Given the description of an element on the screen output the (x, y) to click on. 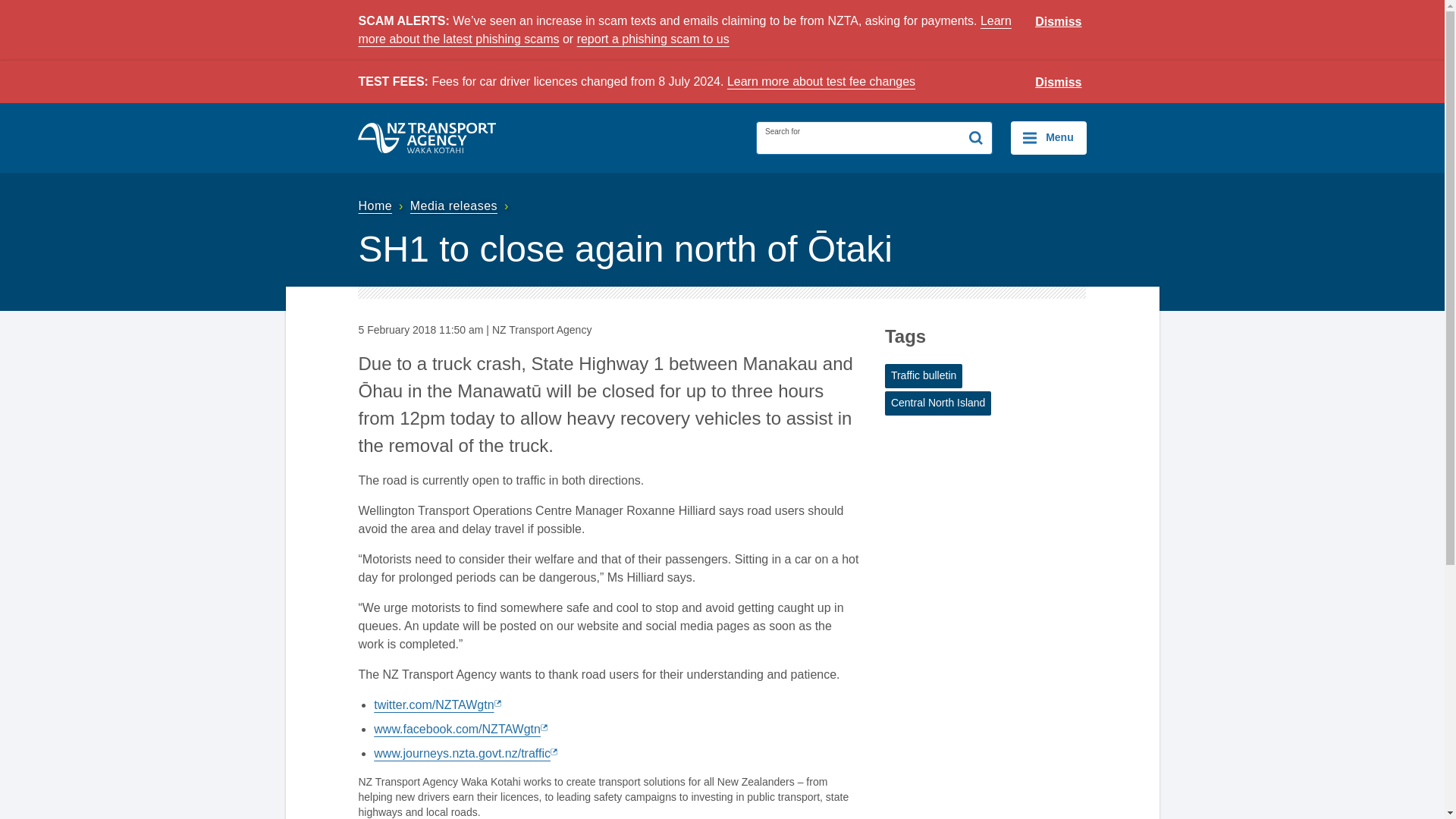
View all posts tagged 'Central North Island' (938, 403)
report a phishing scam to us (652, 38)
Dismiss (1058, 82)
Menu (1048, 137)
Home (382, 205)
Learn more about test fee changes (820, 81)
View all posts tagged 'Traffic bulletin' (923, 375)
Dismiss (1058, 21)
NZ Transport Agency Waka Kotahi (427, 137)
Learn more about the latest phishing scams (684, 29)
